Given the description of an element on the screen output the (x, y) to click on. 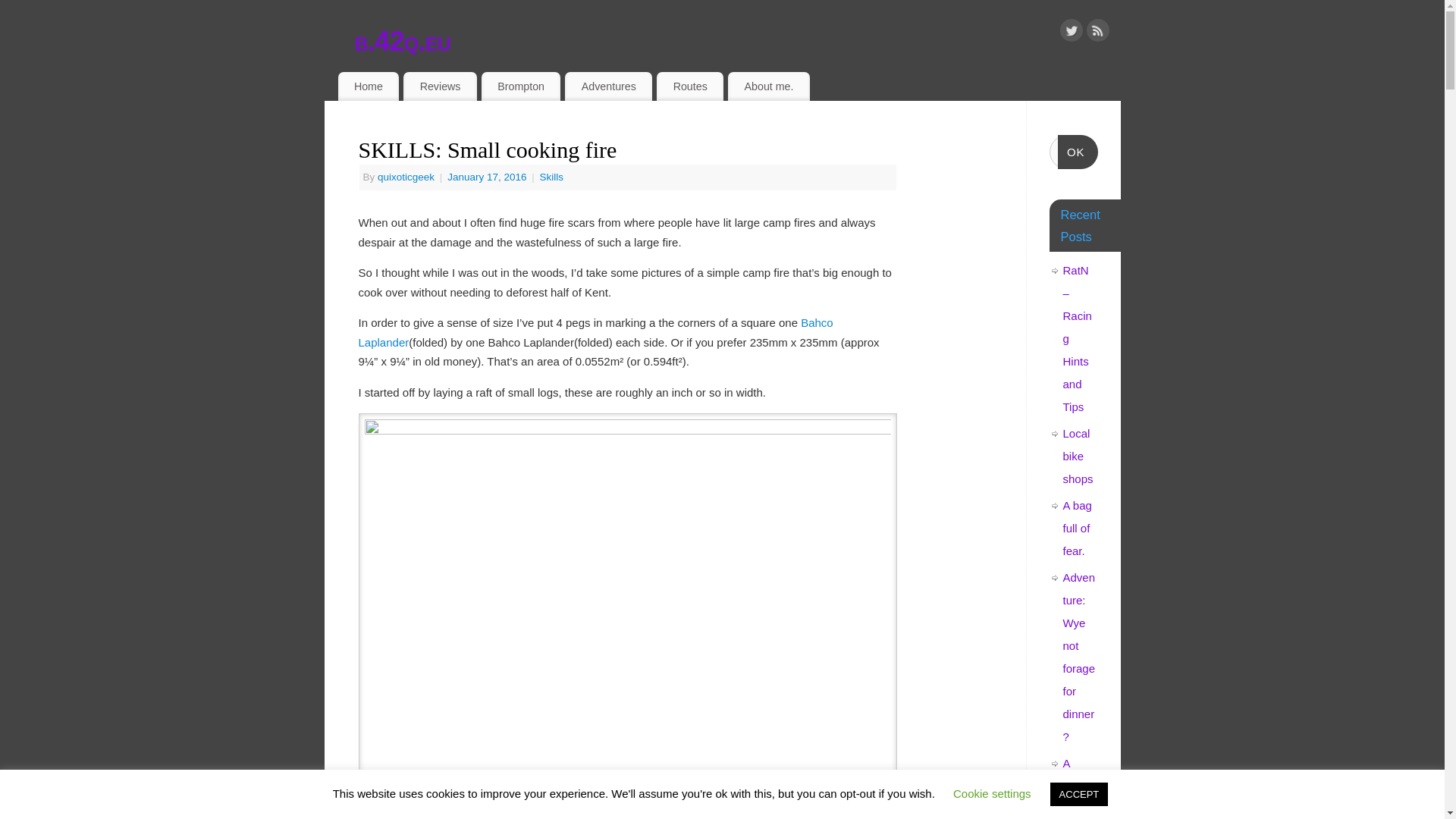
Routes (689, 86)
OK (1077, 151)
Reviews (440, 86)
January 17, 2016 (487, 176)
Twitter (1071, 32)
RSS (1097, 32)
About me. (768, 86)
Brompton (520, 86)
A bag full of fear. (1077, 527)
Adventures (608, 86)
17:26 (487, 176)
quixoticgeek (405, 176)
Bahco Laplander (595, 332)
Adventure: Wye not forage for dinner? (1079, 656)
View all posts by quixoticgeek (405, 176)
